Given the description of an element on the screen output the (x, y) to click on. 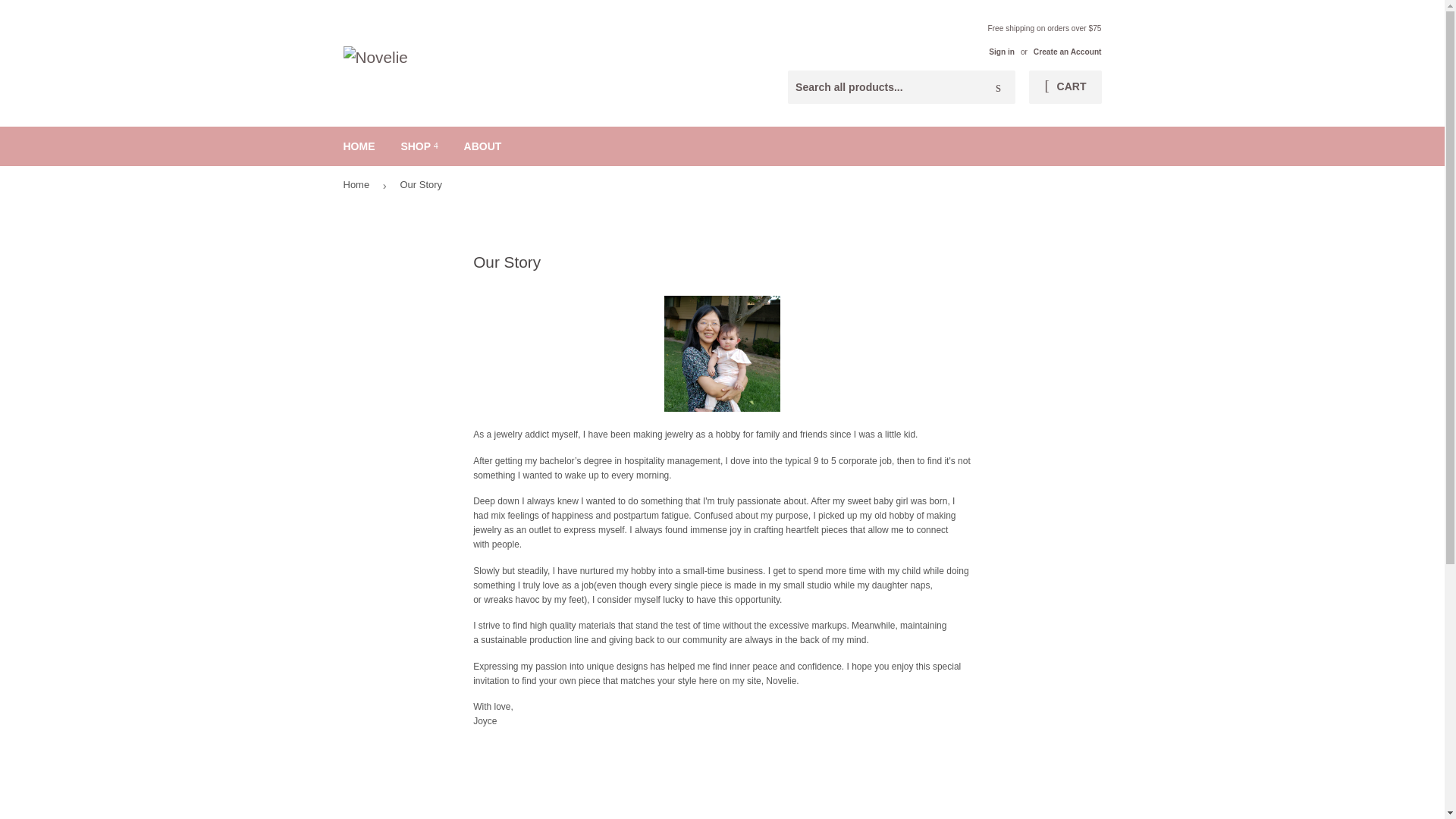
CART (1064, 87)
Search (997, 88)
HOME (359, 146)
SHOP (418, 146)
ABOUT (482, 146)
Create an Account (1067, 51)
Sign in (1001, 51)
